Given the description of an element on the screen output the (x, y) to click on. 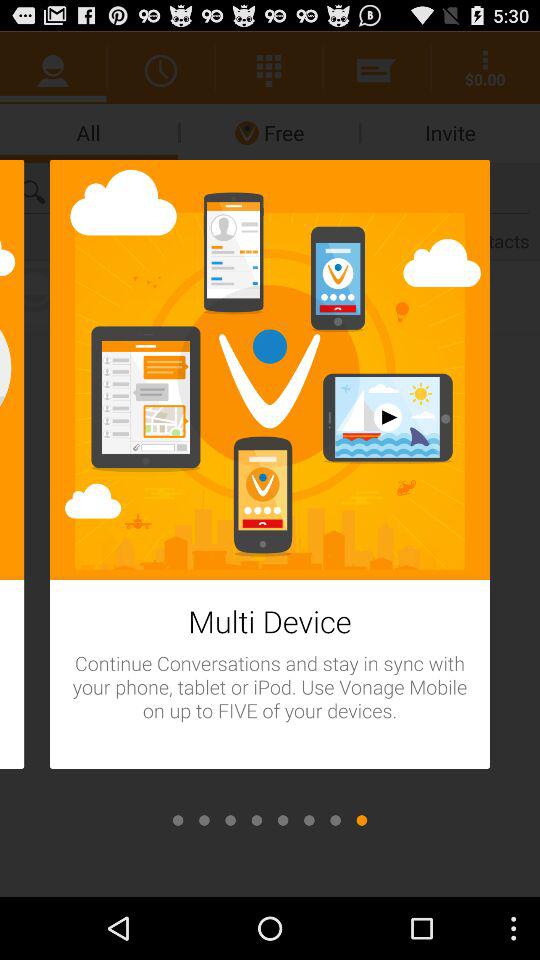
view second slide (204, 820)
